Given the description of an element on the screen output the (x, y) to click on. 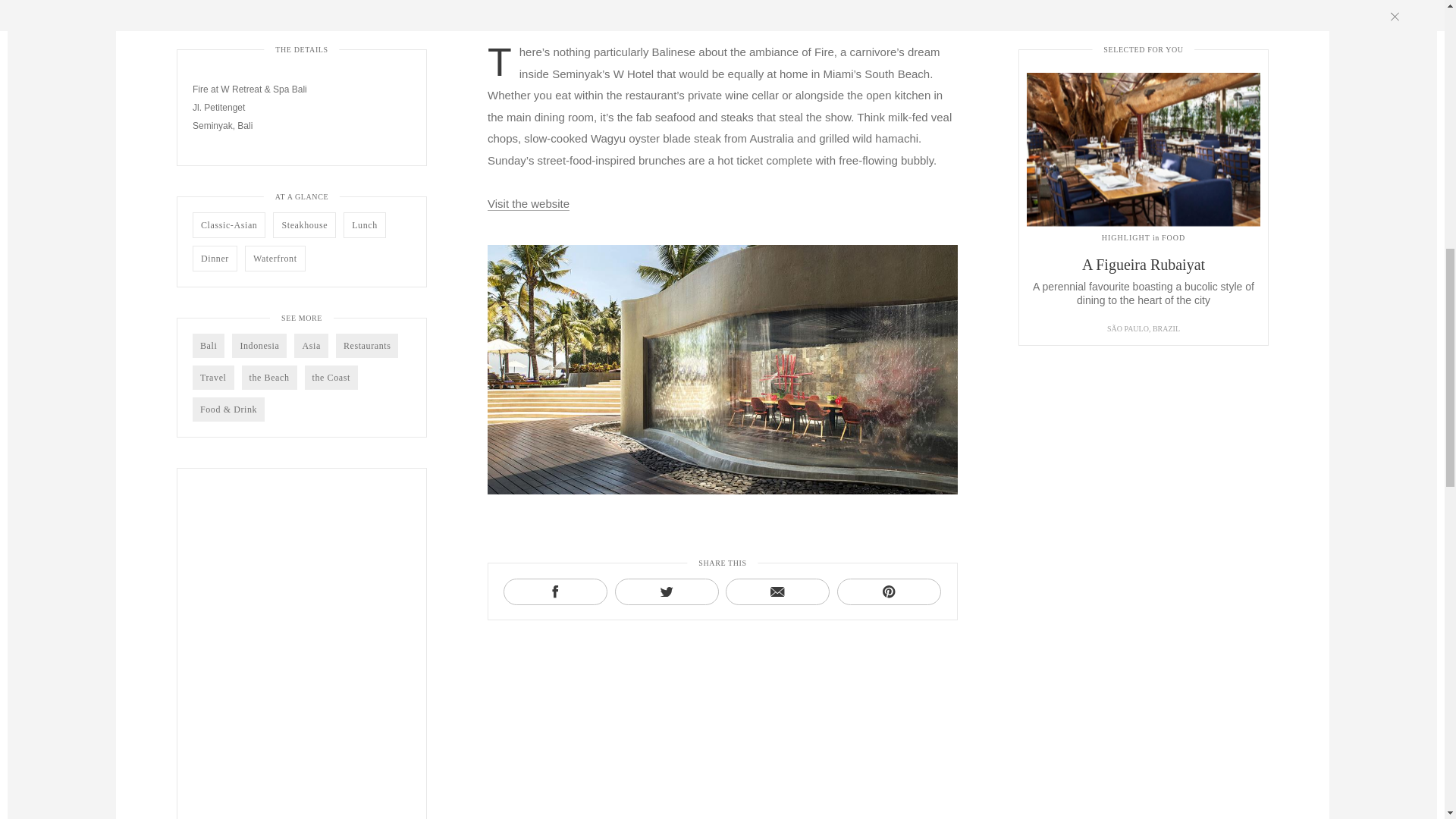
Steakhouse (304, 225)
Classic-Asian (228, 225)
3rd party ad content (300, 643)
Lunch (364, 225)
Waterfront (274, 258)
Asia (310, 345)
Fire website (527, 203)
Visit the website (527, 203)
Indonesia (258, 345)
Bali (208, 345)
Dinner (214, 258)
